Given the description of an element on the screen output the (x, y) to click on. 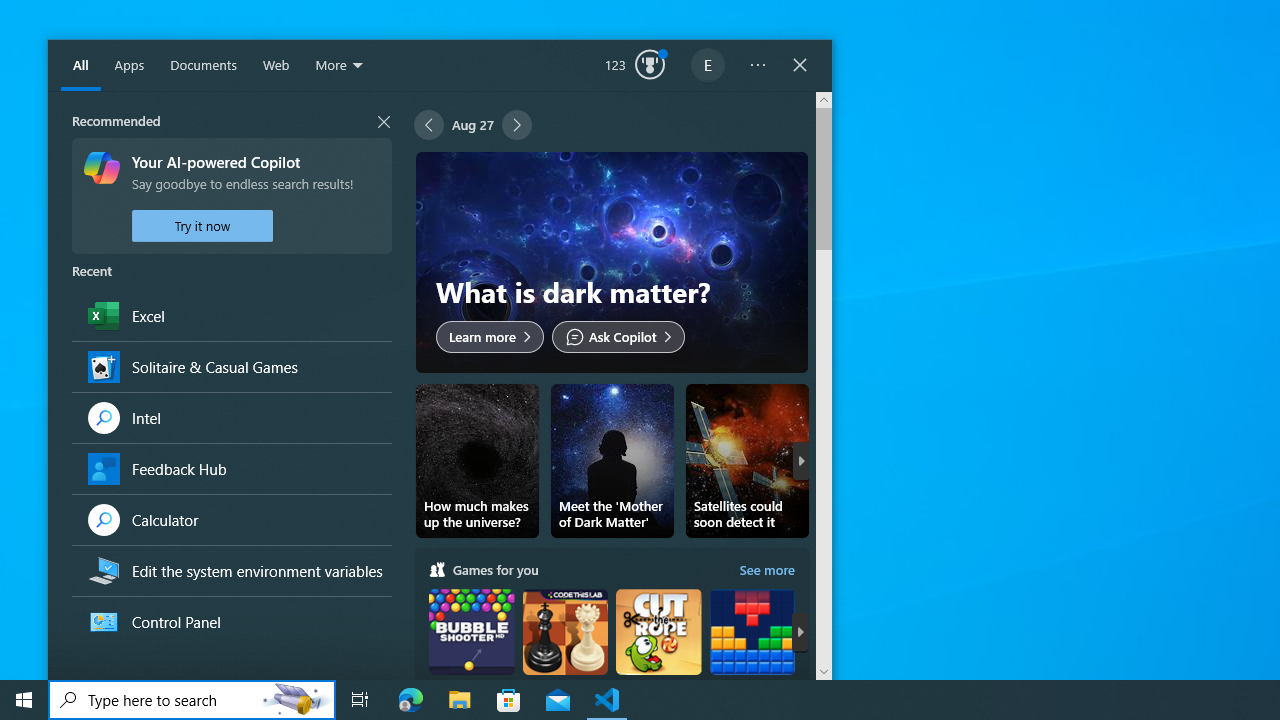
Apps (129, 65)
Close Windows Search (799, 65)
Microsoft Rewards balance: 123 (635, 65)
Satellites could soon detect it (747, 460)
Intel, See more search results (231, 416)
EugeneLedger601@outlook.com (707, 65)
Meet the 'Mother of Dark Matter' (612, 460)
Dismiss (783, 175)
Solitaire & Casual Games, App (231, 366)
Recent Group,Excel, App (231, 315)
How much makes up the universe? (477, 460)
More (340, 65)
Your AI-powered CopilotTry it now (231, 196)
Web (276, 65)
Documents (203, 65)
